Given the description of an element on the screen output the (x, y) to click on. 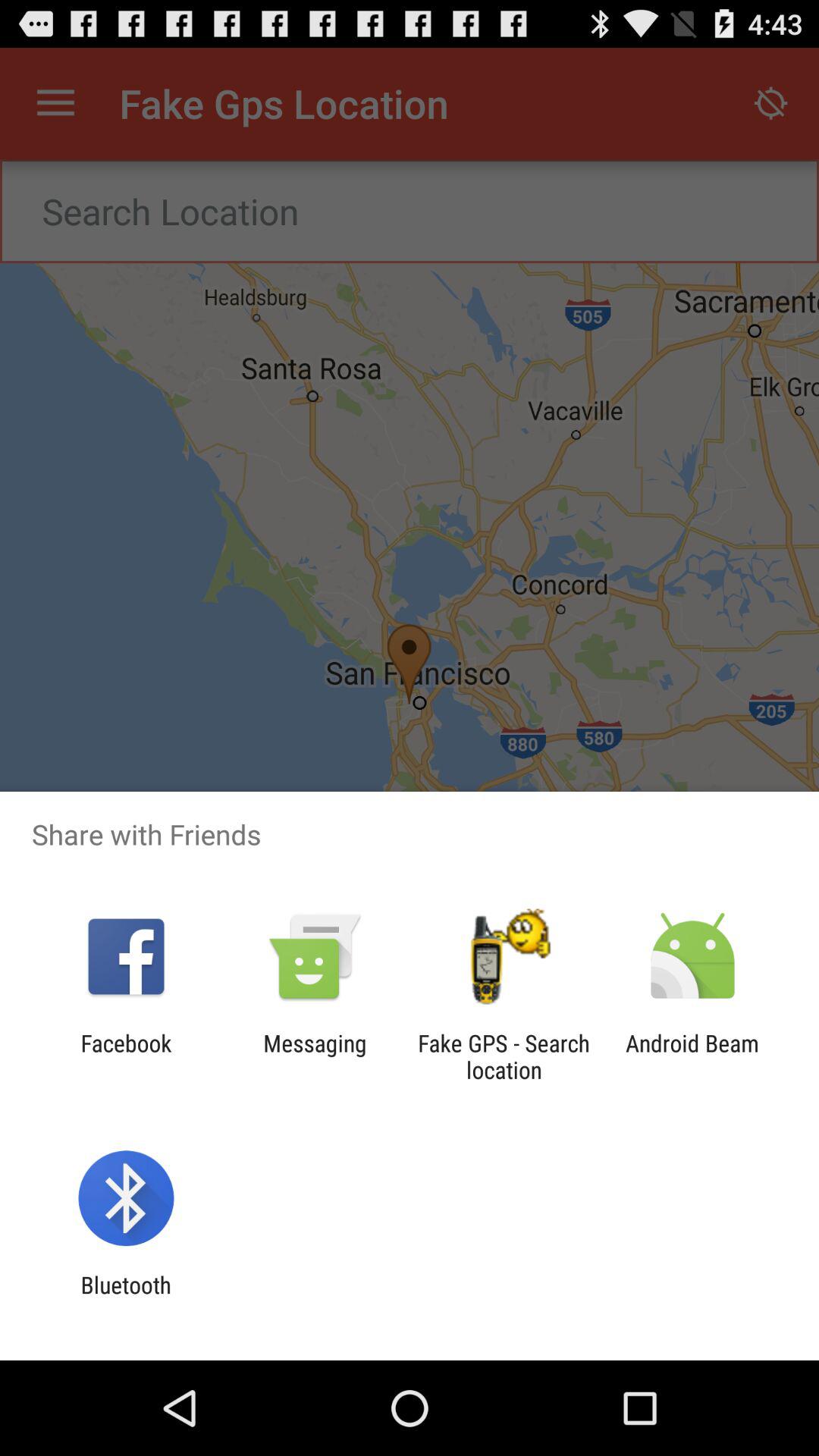
launch icon to the left of android beam item (503, 1056)
